Given the description of an element on the screen output the (x, y) to click on. 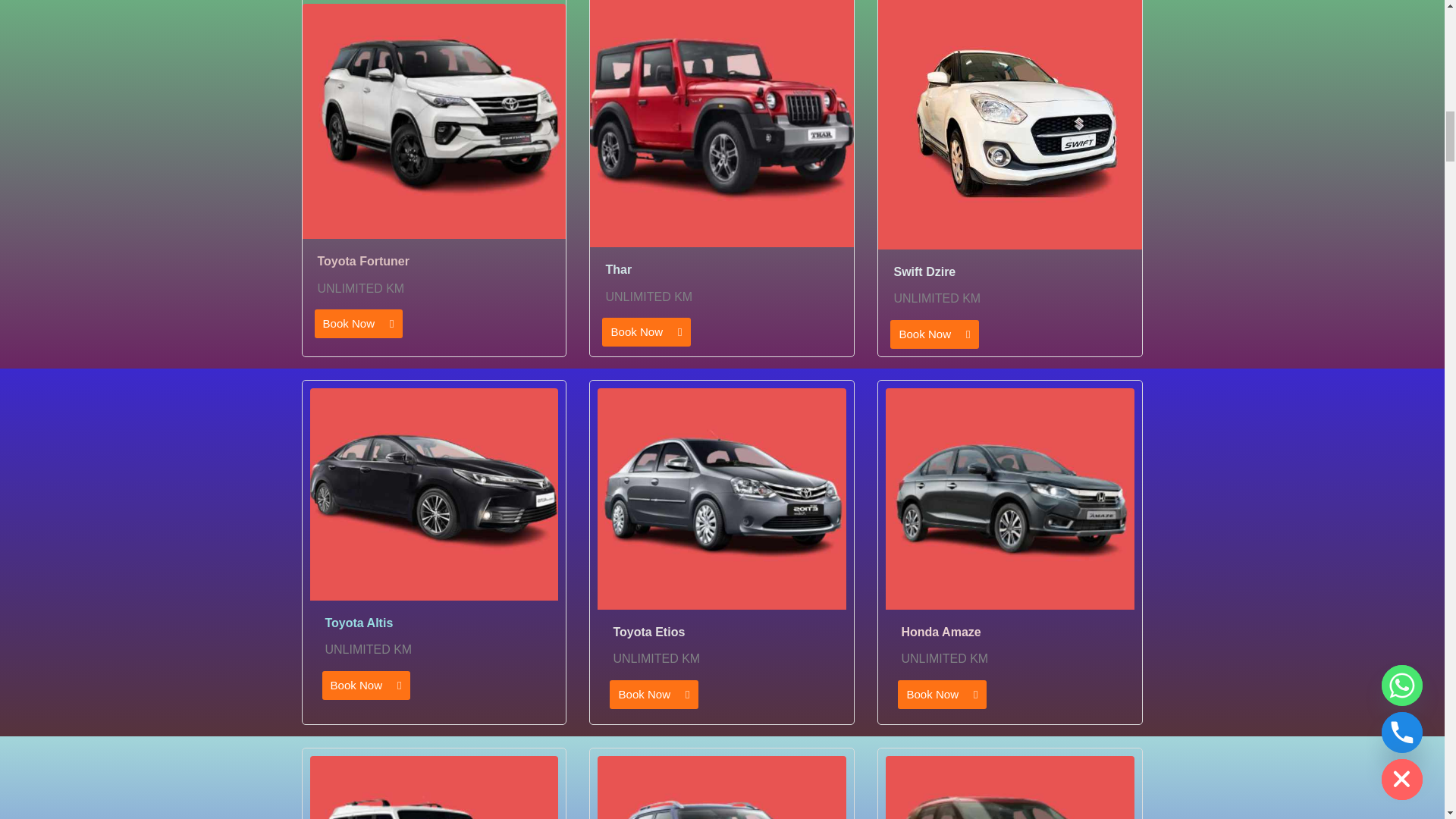
Book Now (941, 694)
Book Now (646, 331)
Book Now (365, 685)
Book Now (357, 323)
Book Now (933, 334)
Book Now (653, 694)
Thar (618, 269)
